Given the description of an element on the screen output the (x, y) to click on. 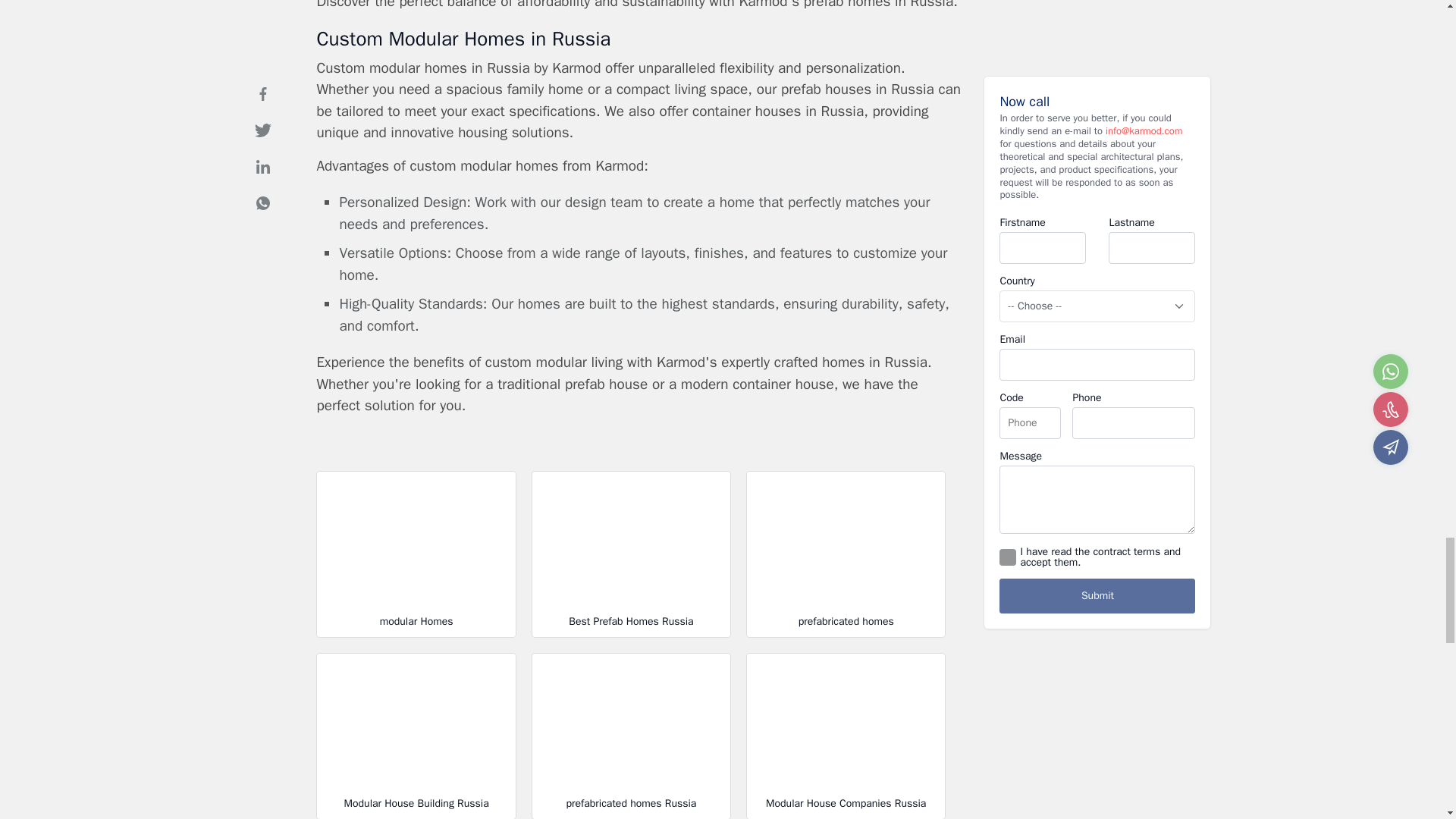
prefabricated homes Russia (630, 735)
prefabricated homes (844, 554)
Modular House Companies Russia (844, 735)
Modular House Building Russia (415, 735)
modular Homes (415, 554)
Best Prefab Homes Russia (630, 554)
